Given the description of an element on the screen output the (x, y) to click on. 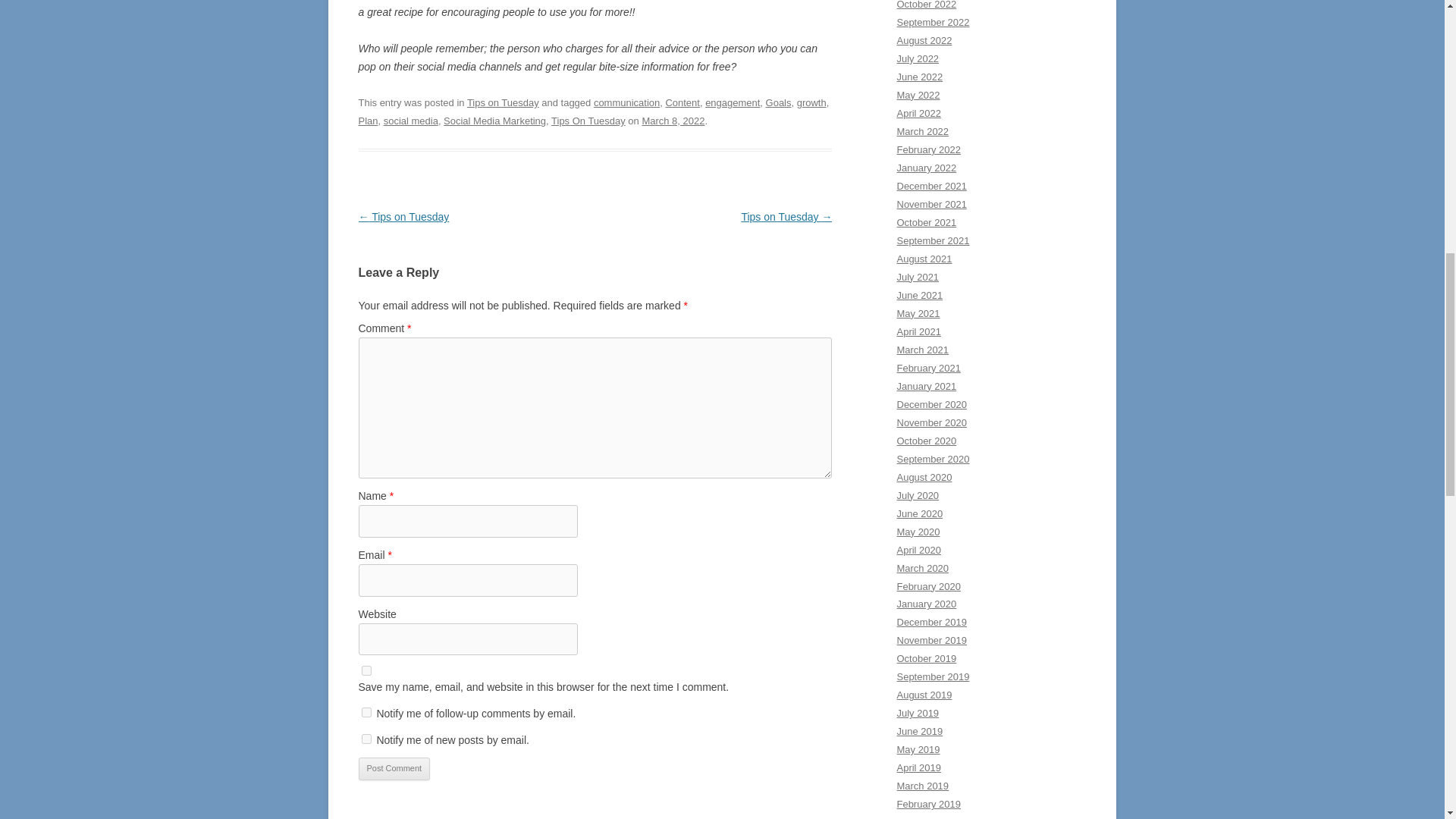
12:01 pm (673, 120)
Post Comment (393, 768)
Content (681, 102)
Tips on Tuesday (502, 102)
communication (626, 102)
March 8, 2022 (673, 120)
growth (811, 102)
Plan (367, 120)
Goals (778, 102)
Post Comment (393, 768)
